Given the description of an element on the screen output the (x, y) to click on. 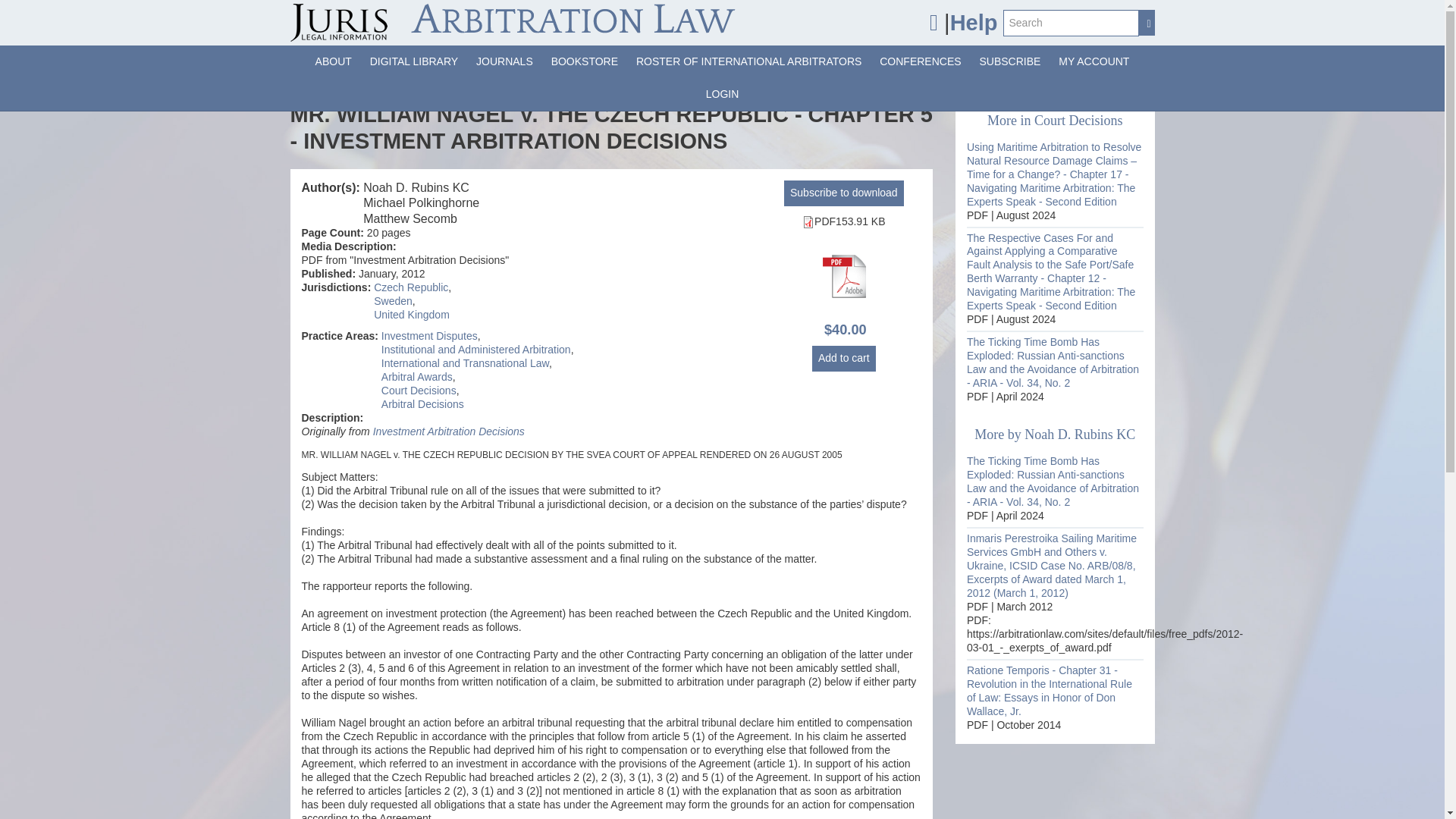
DIGITAL LIBRARY (413, 61)
Home (512, 22)
ABOUT (333, 61)
MY ACCOUNT (1094, 61)
Help (973, 22)
BOOKSTORE (584, 61)
SUBSCRIBE (1010, 61)
International and Transnational Law (464, 363)
Sweden (393, 300)
Institutional and Administered Arbitration (475, 349)
Czech Republic (411, 287)
CONFERENCES (920, 61)
Court Decisions (419, 390)
Arbitral Decisions (422, 404)
LOGIN (722, 93)
